Given the description of an element on the screen output the (x, y) to click on. 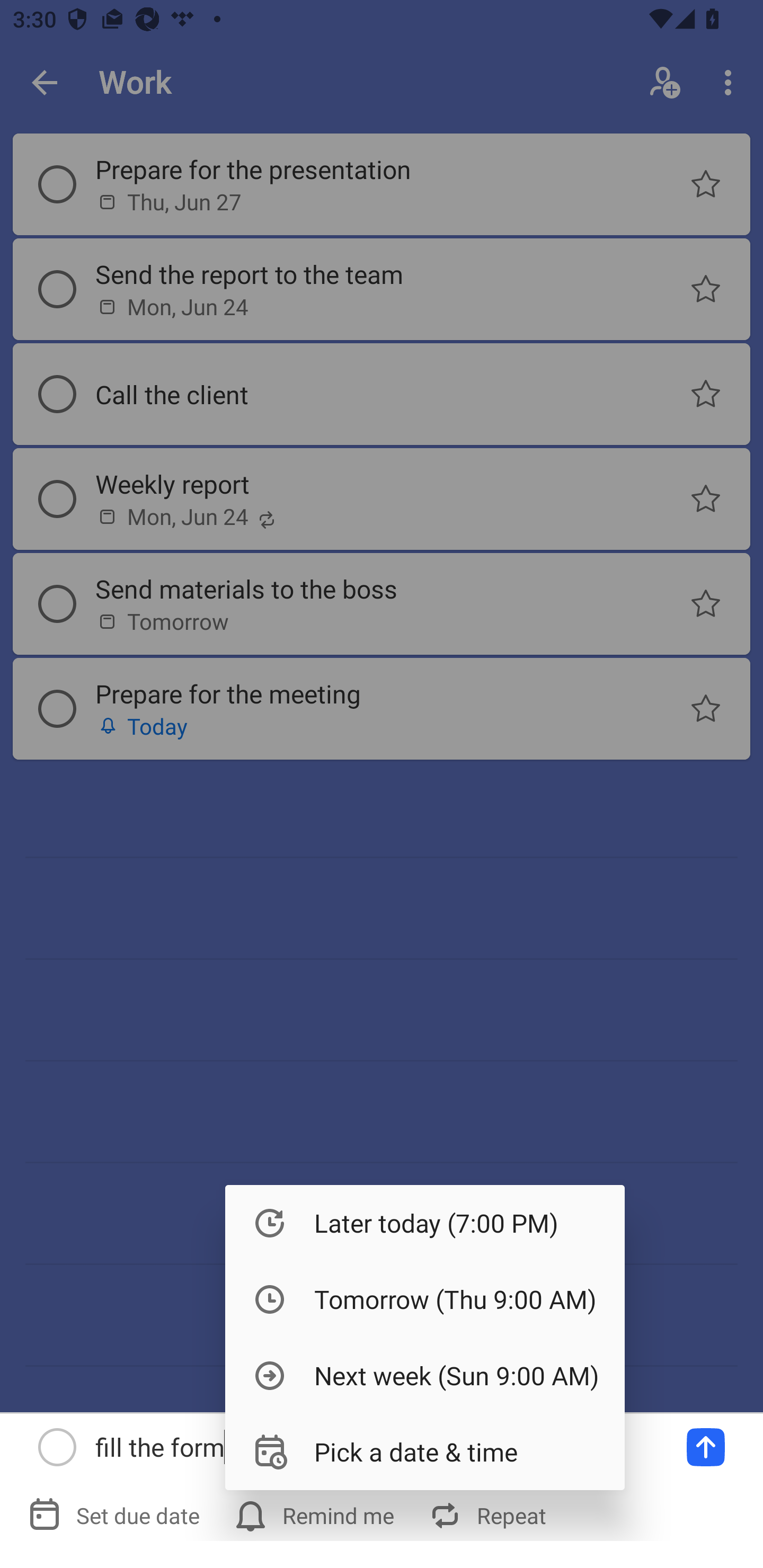
Pick a date & time4 in 4 Pick a date & time (424, 1451)
